Given the description of an element on the screen output the (x, y) to click on. 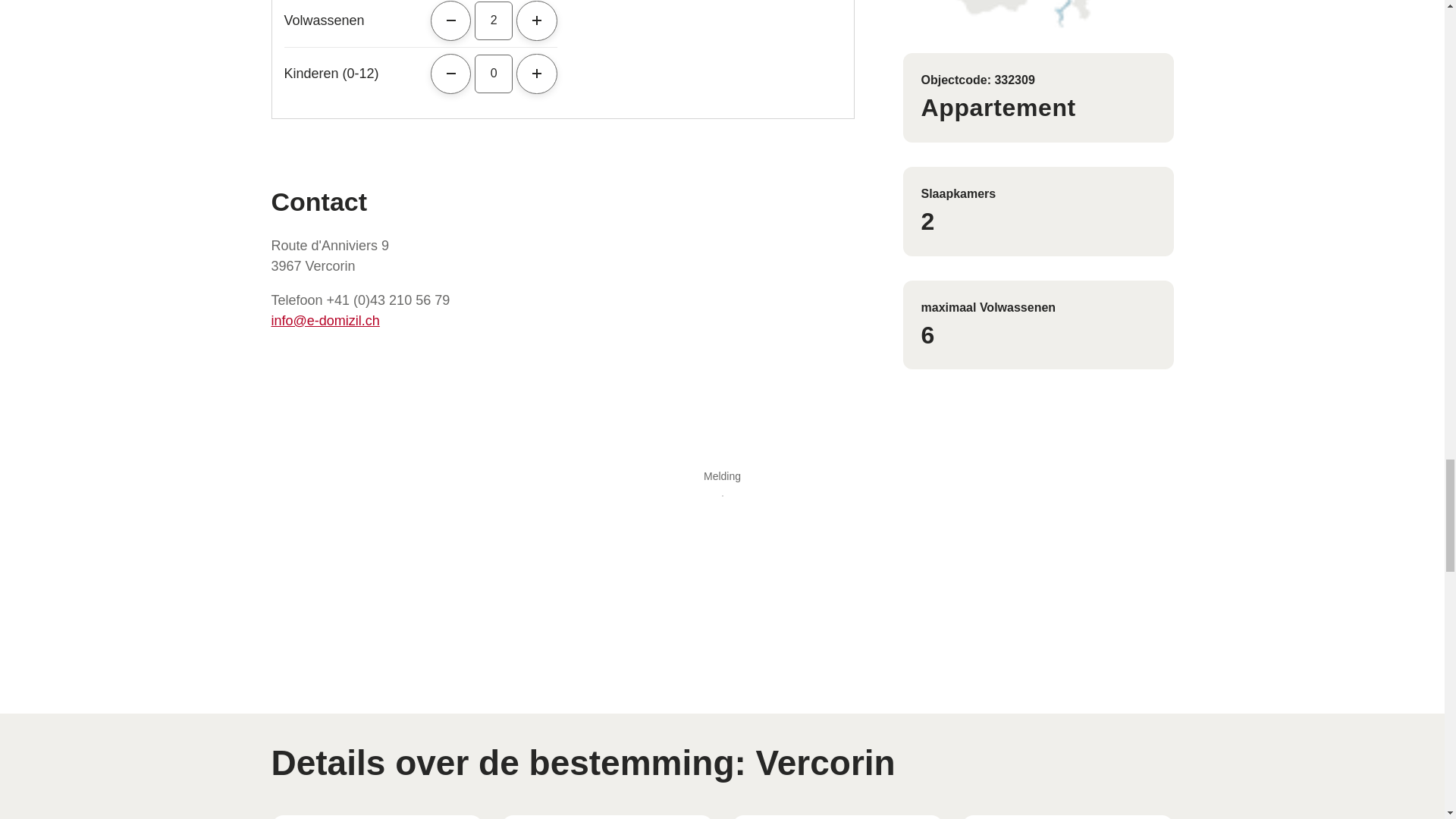
2 (493, 20)
0 (493, 73)
